Given the description of an element on the screen output the (x, y) to click on. 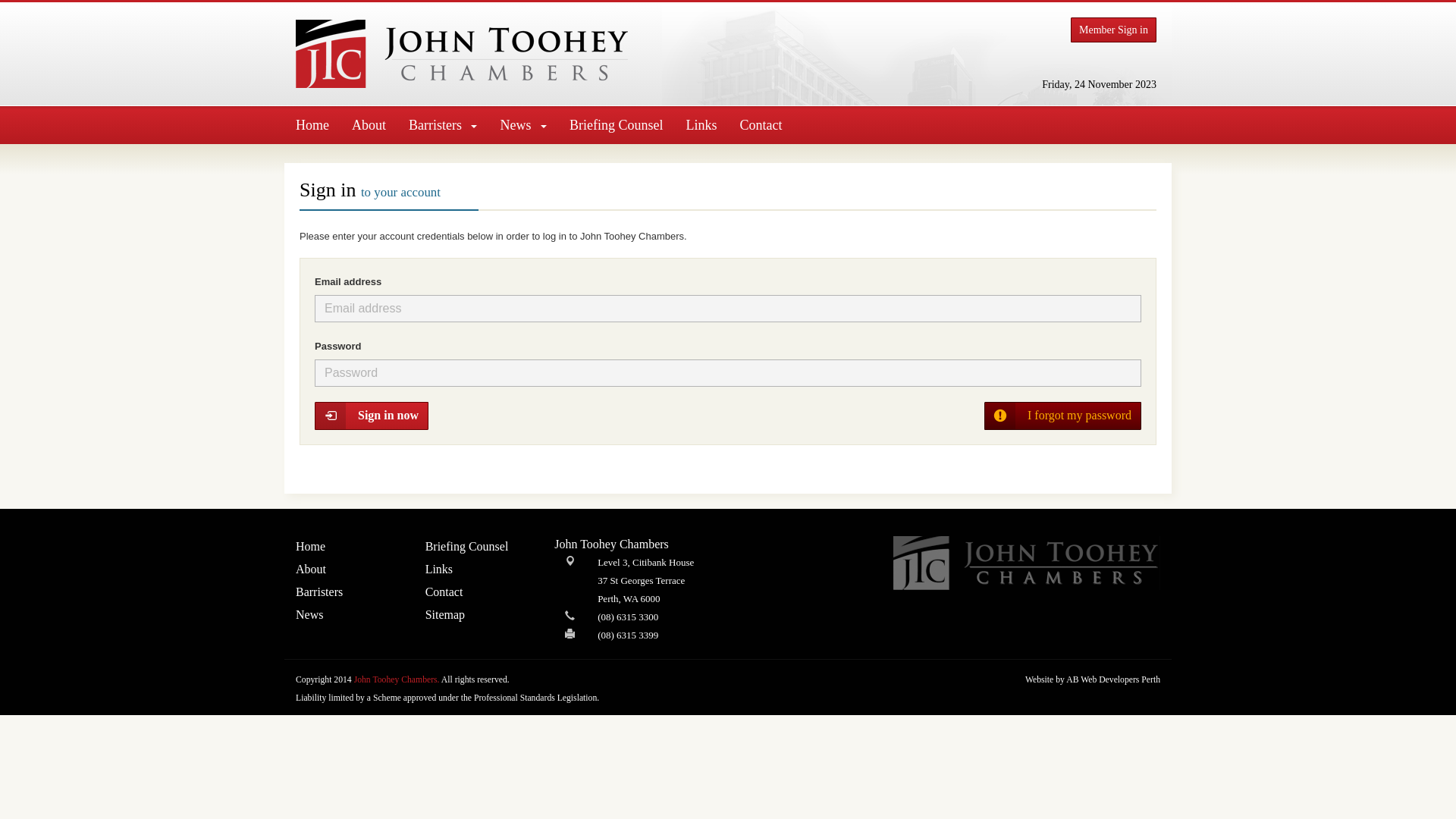
Barristers Element type: text (442, 125)
John Toohey Chambers Element type: hover (461, 53)
Links Element type: text (701, 125)
Contact Element type: text (478, 591)
News Element type: text (348, 614)
Member Sign in Element type: text (1113, 29)
John Toohey Chambers. Element type: text (396, 679)
Briefing Counsel Element type: text (478, 546)
Briefing Counsel Element type: text (616, 125)
News Element type: text (523, 125)
Sign in now Element type: text (371, 415)
About Element type: text (348, 569)
Barristers Element type: text (348, 591)
Sitemap Element type: text (478, 614)
Home Element type: text (348, 546)
Contact Element type: text (760, 125)
Links Element type: text (478, 569)
About Element type: text (368, 125)
I forgot my password Element type: text (1062, 415)
Home Element type: text (312, 125)
